Given the description of an element on the screen output the (x, y) to click on. 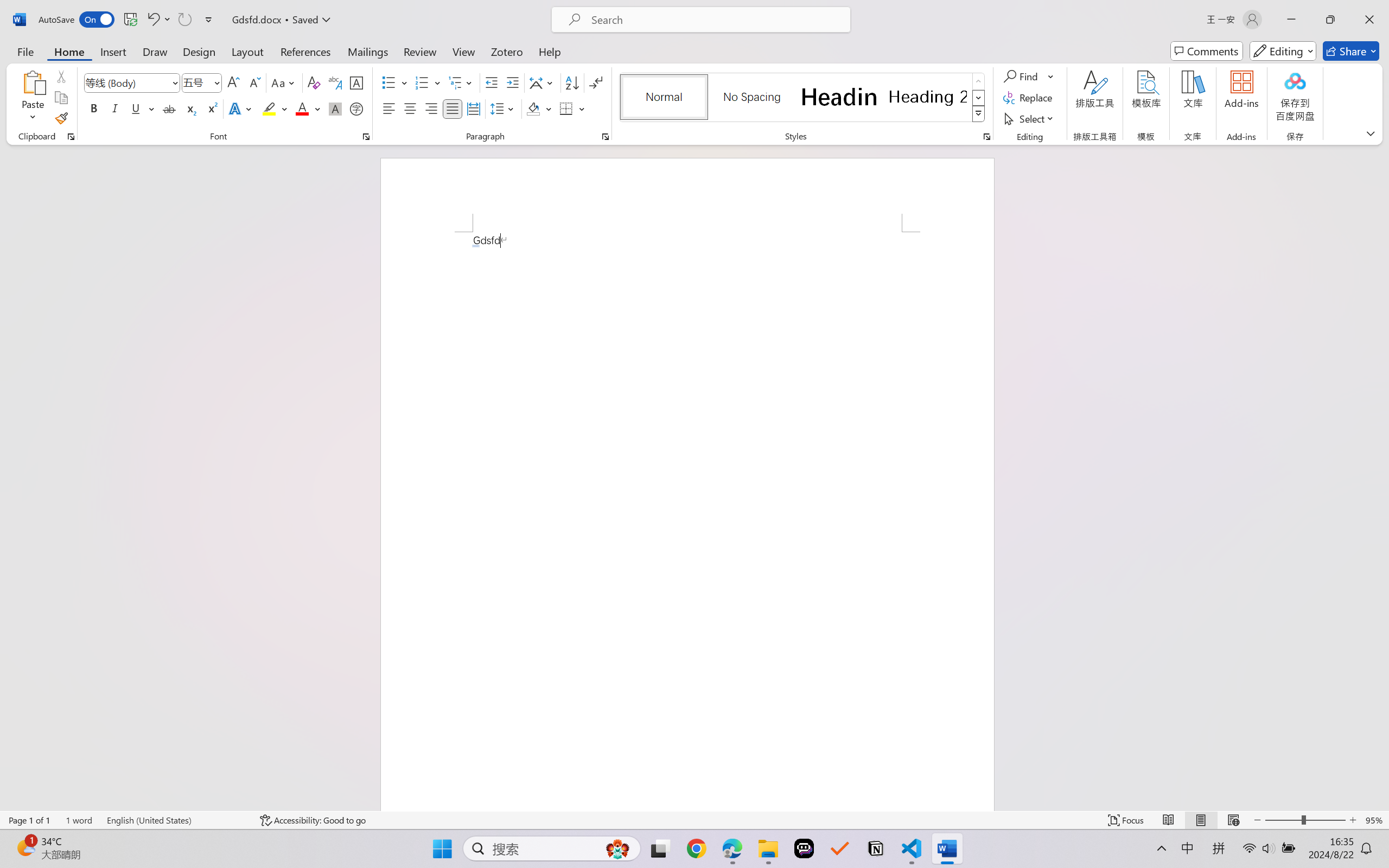
Heading 2 (927, 96)
Font... (365, 136)
Can't Repeat (184, 19)
Character Shading (334, 108)
Office Clipboard... (70, 136)
Format Painter (60, 118)
Microsoft search (715, 19)
